Given the description of an element on the screen output the (x, y) to click on. 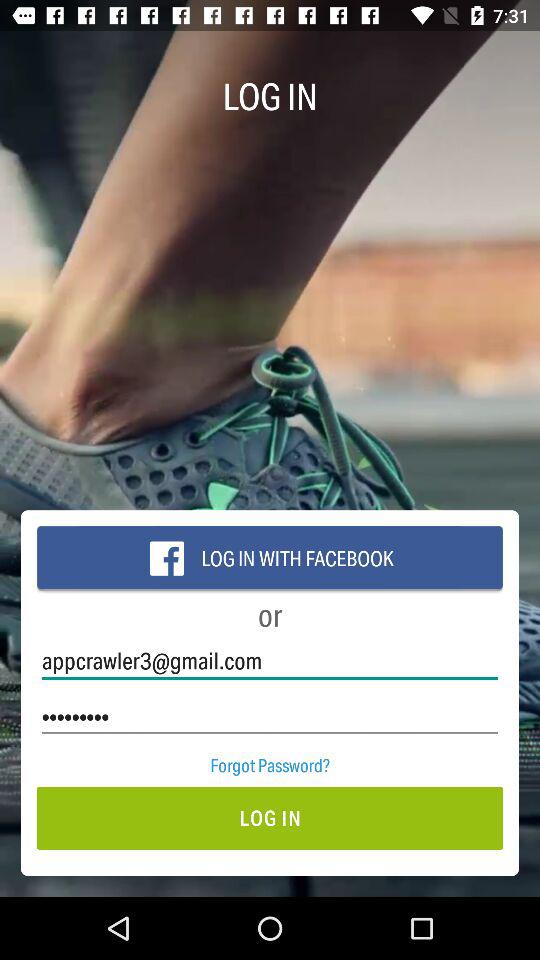
select the crowd3116 (269, 715)
